Given the description of an element on the screen output the (x, y) to click on. 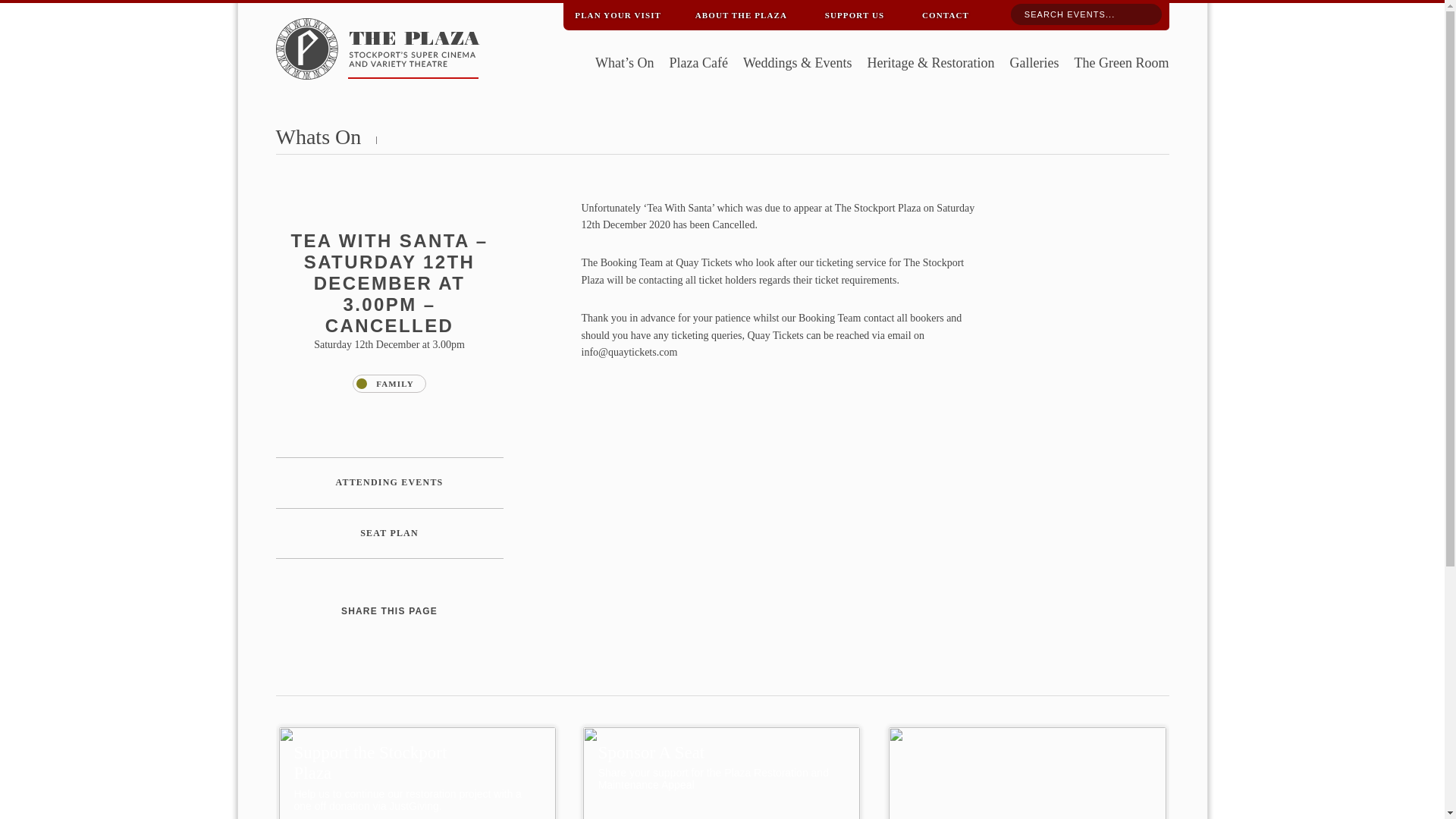
The Green Room (1121, 64)
submit (1143, 15)
FAMILY (388, 383)
submit (1143, 15)
ABOUT THE PLAZA (740, 12)
SEAT PLAN (389, 533)
Galleries (1034, 64)
Whats On (318, 136)
CONTACT (945, 12)
SUPPORT US (854, 12)
ATTENDING EVENTS (389, 482)
PLAN YOUR VISIT (617, 12)
